Given the description of an element on the screen output the (x, y) to click on. 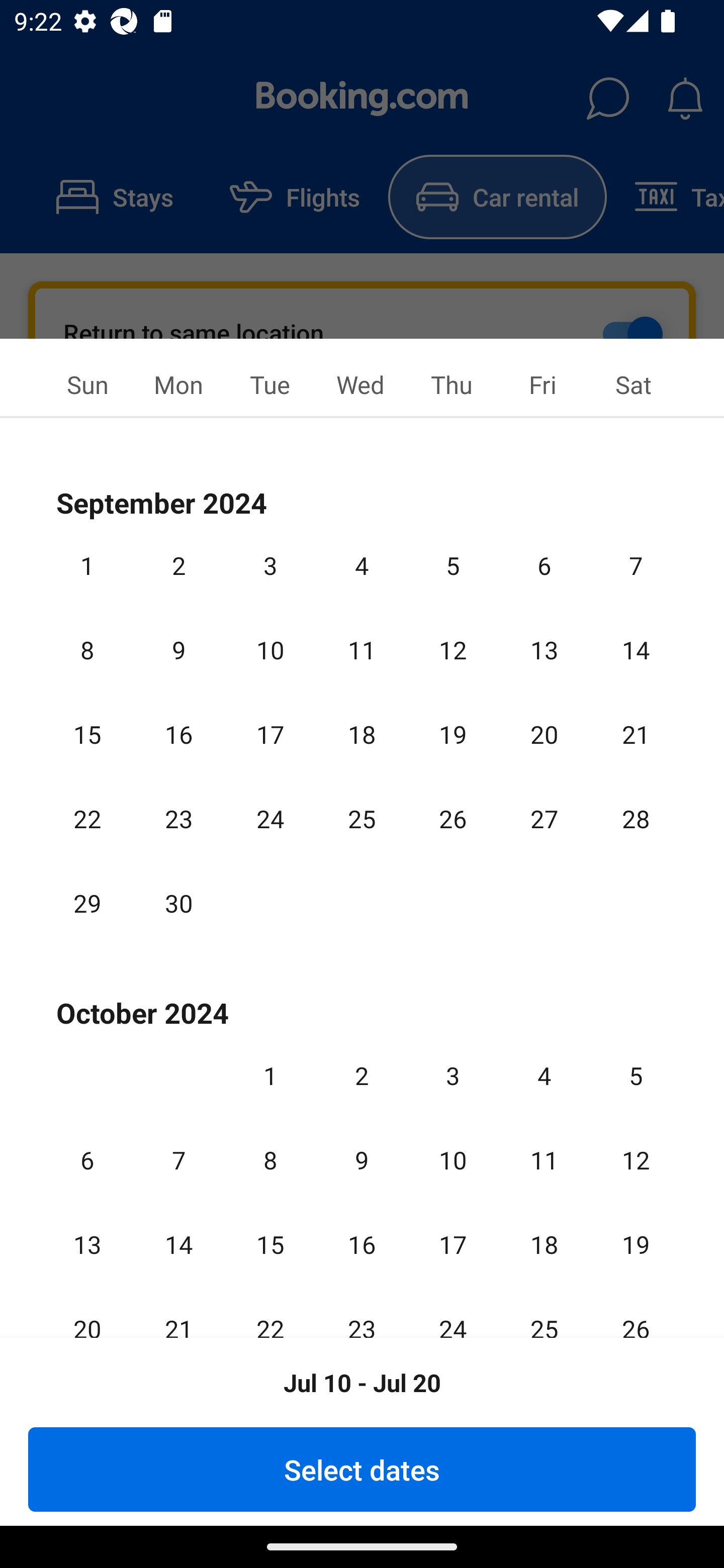
Select dates (361, 1468)
